Given the description of an element on the screen output the (x, y) to click on. 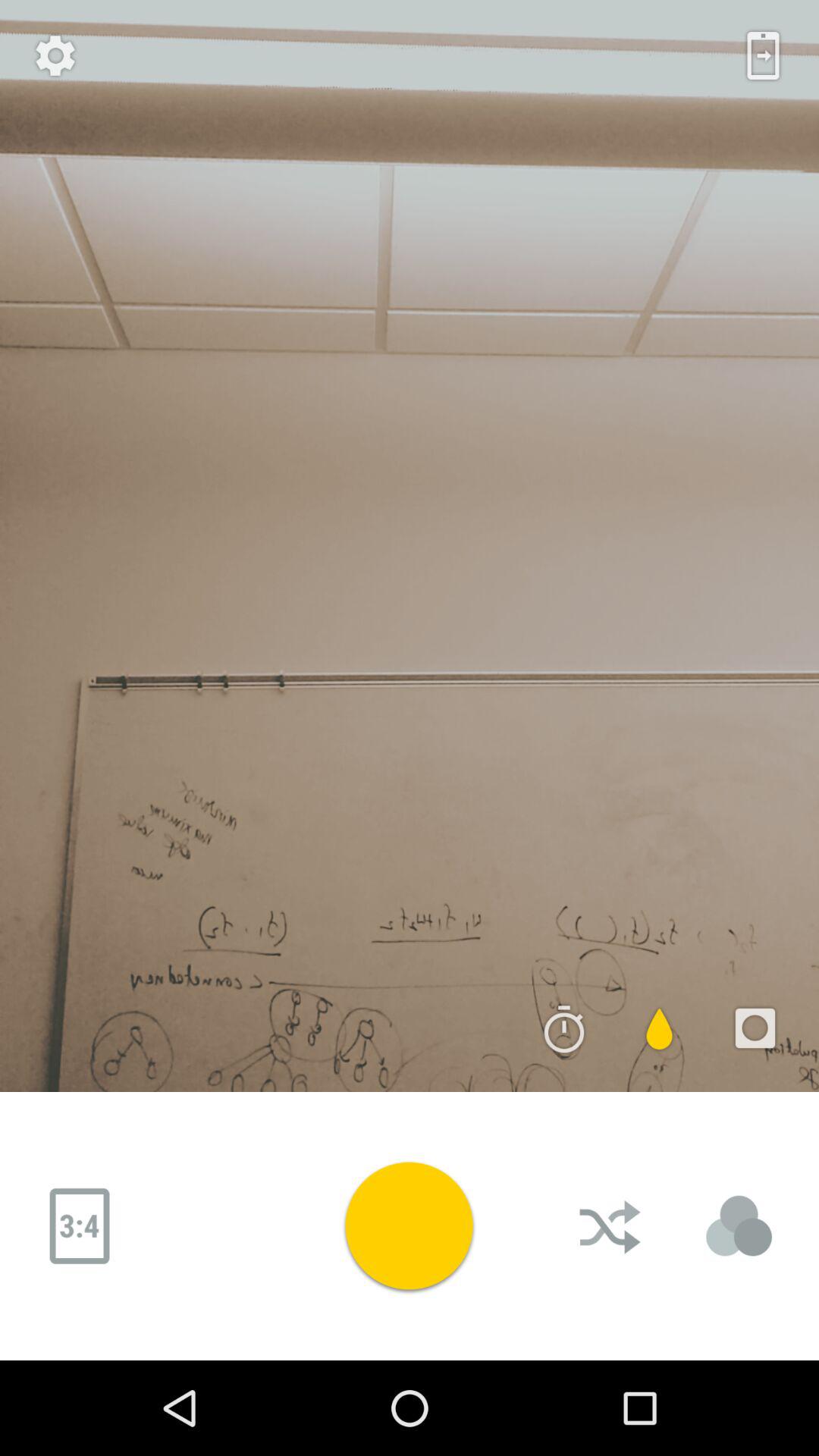
change screen resolution (79, 1226)
